Given the description of an element on the screen output the (x, y) to click on. 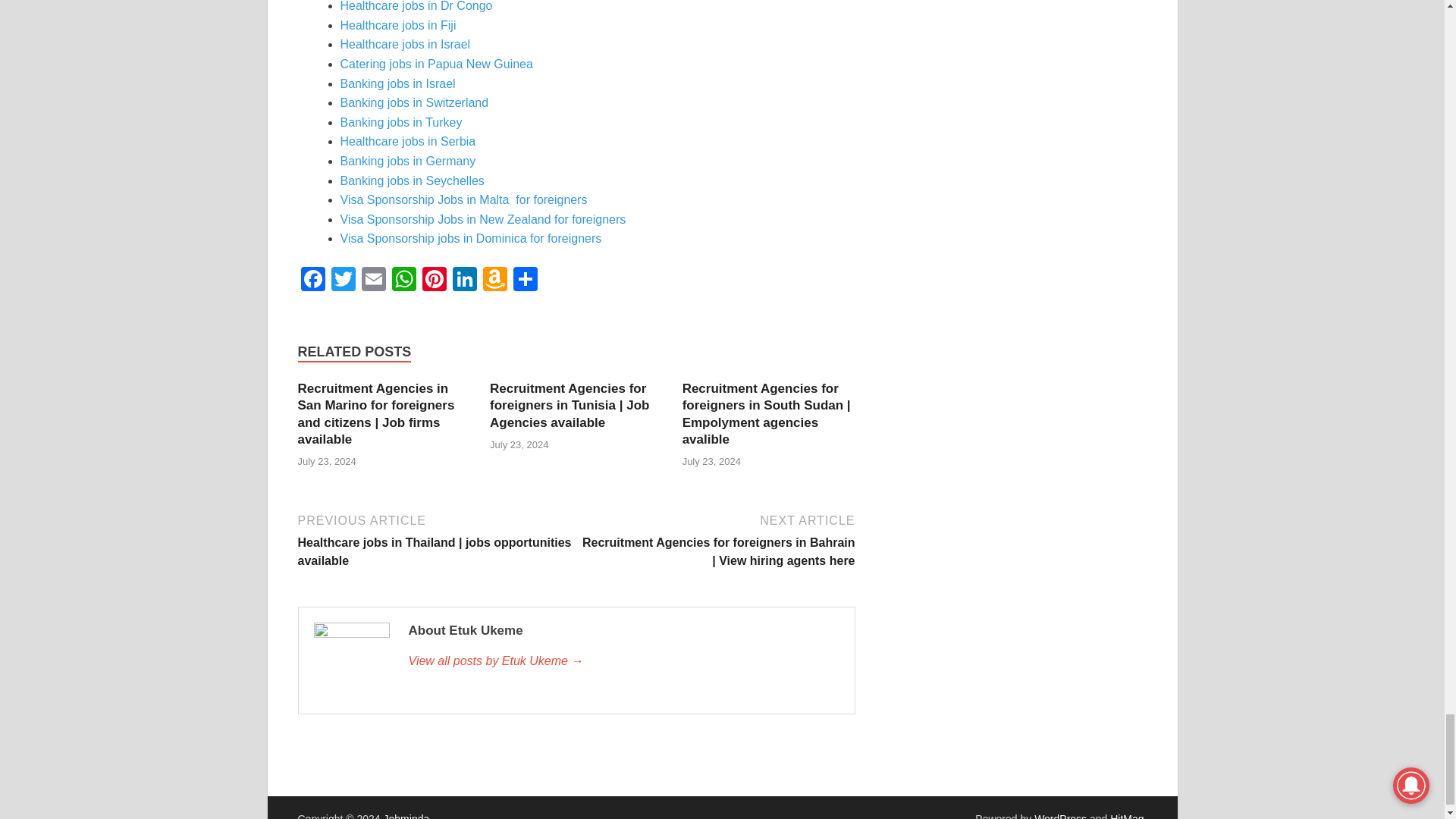
Twitter (342, 280)
Pinterest (433, 280)
Email (373, 280)
Amazon Wish List (494, 280)
Facebook (312, 280)
WhatsApp (403, 280)
LinkedIn (463, 280)
